Given the description of an element on the screen output the (x, y) to click on. 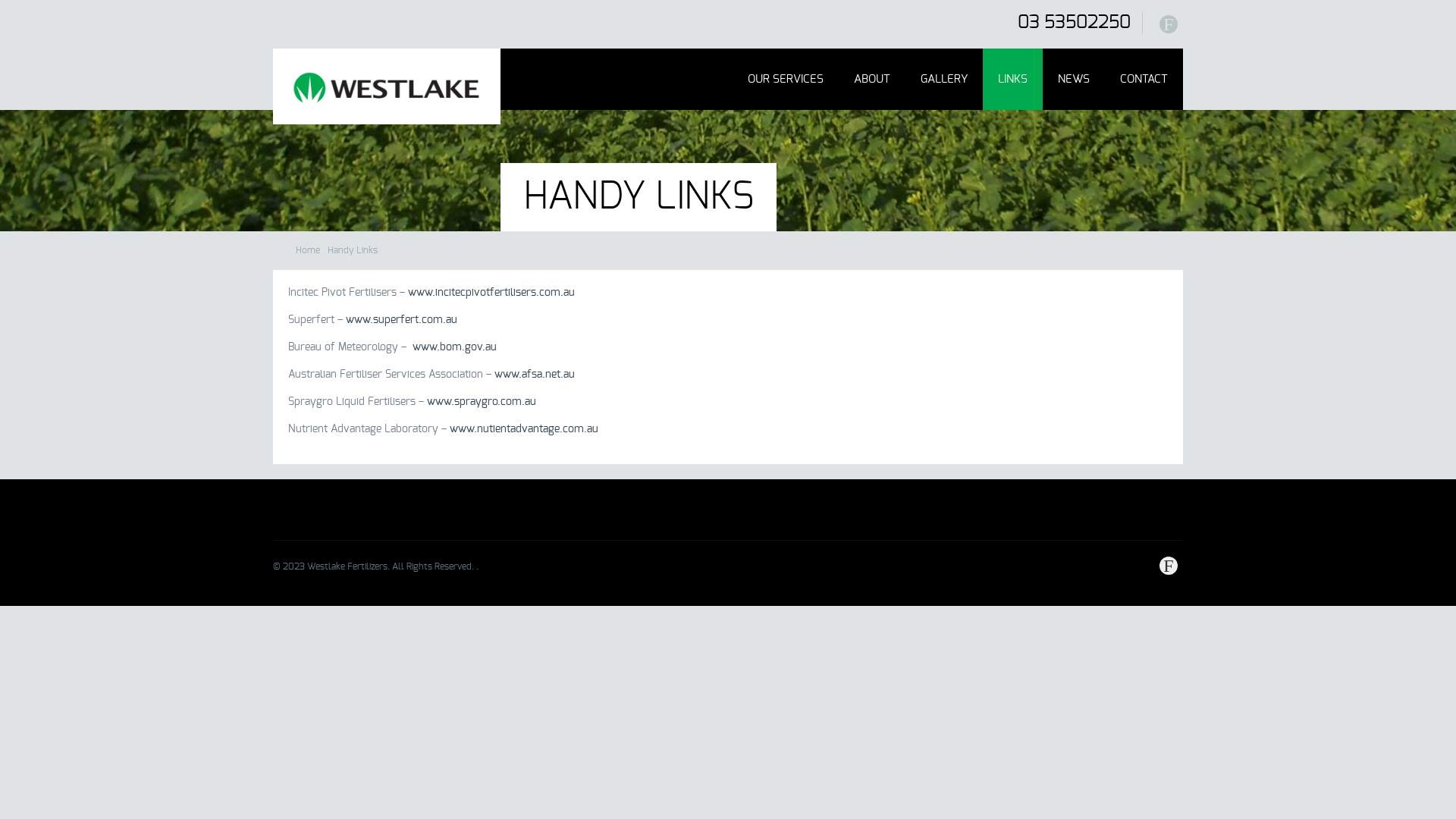
OUR SERVICES Element type: text (785, 78)
NEWS Element type: text (1073, 78)
www.nutientadvantage.com.au  Element type: text (525, 428)
www.superfert.com.au Element type: text (401, 319)
03 53502250 Element type: text (1073, 22)
LINKS Element type: text (1012, 78)
F Element type: text (1168, 24)
Handy Links Element type: text (352, 249)
Westlake Fertilizers Element type: hover (386, 86)
Home Element type: text (307, 249)
F Element type: text (1168, 565)
www.afsa.net.au Element type: text (534, 374)
www.spraygro.com.au Element type: text (481, 401)
ABOUT Element type: text (871, 78)
www.incitecpivotfertilisers.com.au Element type: text (490, 292)
GALLERY Element type: text (943, 78)
CONTACT Element type: text (1143, 78)
www.bom.gov.au Element type: text (454, 347)
